Given the description of an element on the screen output the (x, y) to click on. 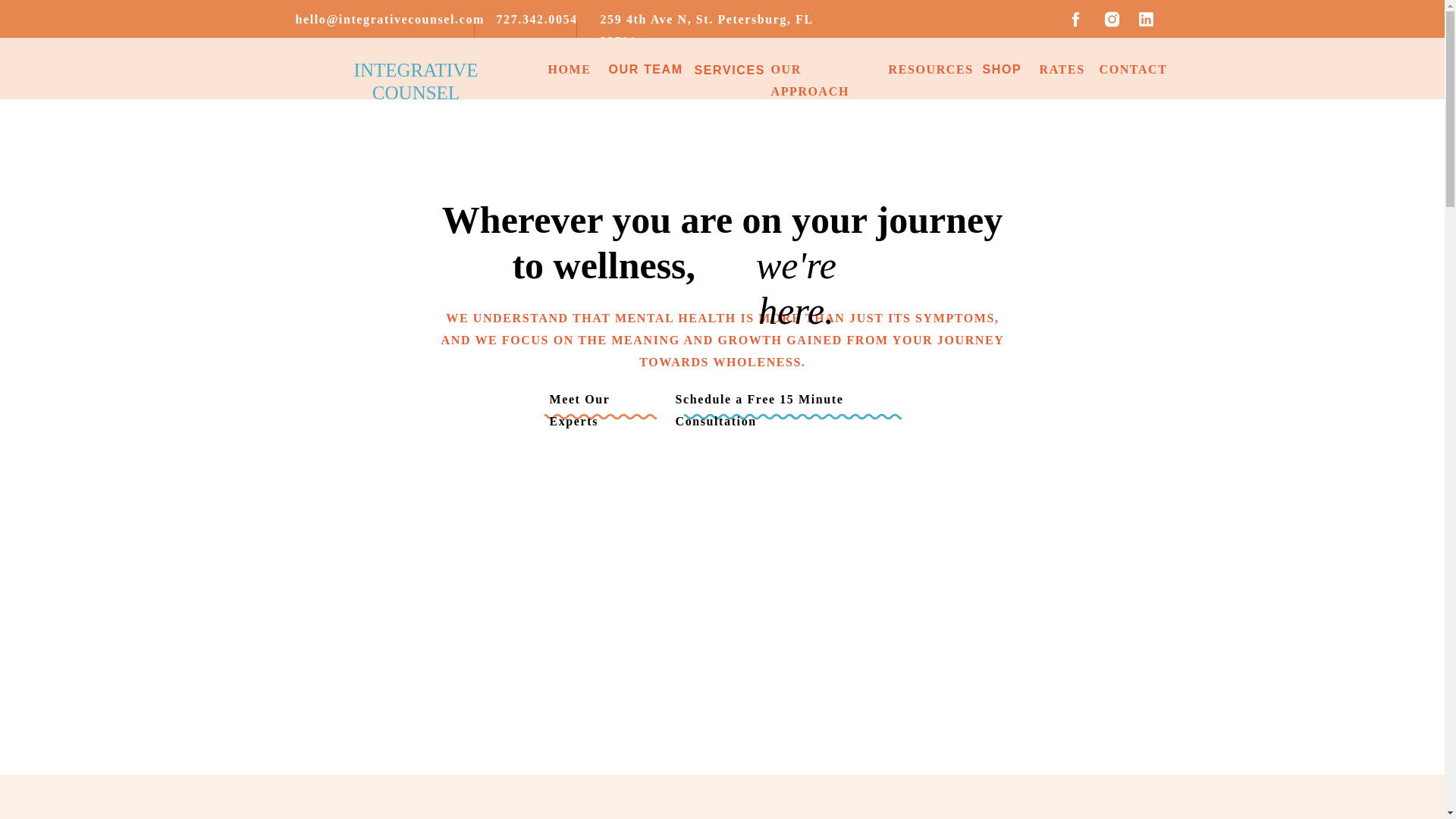
CONTACT (1128, 68)
727.342.0054 (534, 18)
SHOP (1002, 69)
INTEGRATIVE COUNSEL (415, 68)
RESOURCES (924, 68)
HOME (567, 68)
OUR APPROACH (819, 68)
OUR TEAM (644, 69)
RATES (1059, 68)
SERVICES (729, 70)
259 4th Ave N, St. Petersburg, FL 33701 (715, 18)
Meet Our Experts (602, 399)
Schedule a Free 15 Minute Consultation (791, 399)
